Given the description of an element on the screen output the (x, y) to click on. 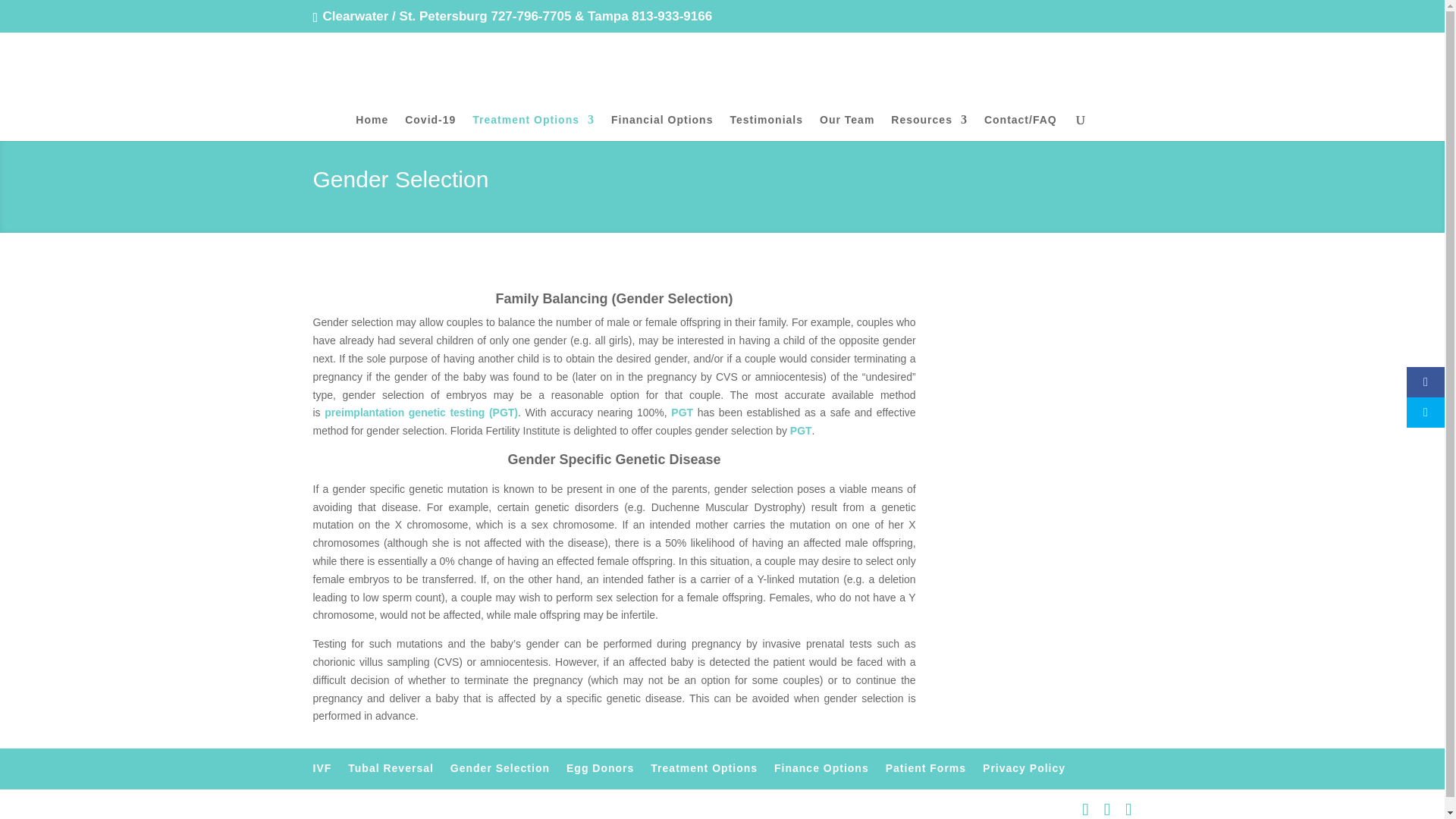
Financial Options (662, 127)
Our Team (847, 127)
Home (371, 127)
Resources (929, 127)
Testimonials (766, 127)
Treatment Options (532, 127)
Covid-19 (429, 127)
